Given the description of an element on the screen output the (x, y) to click on. 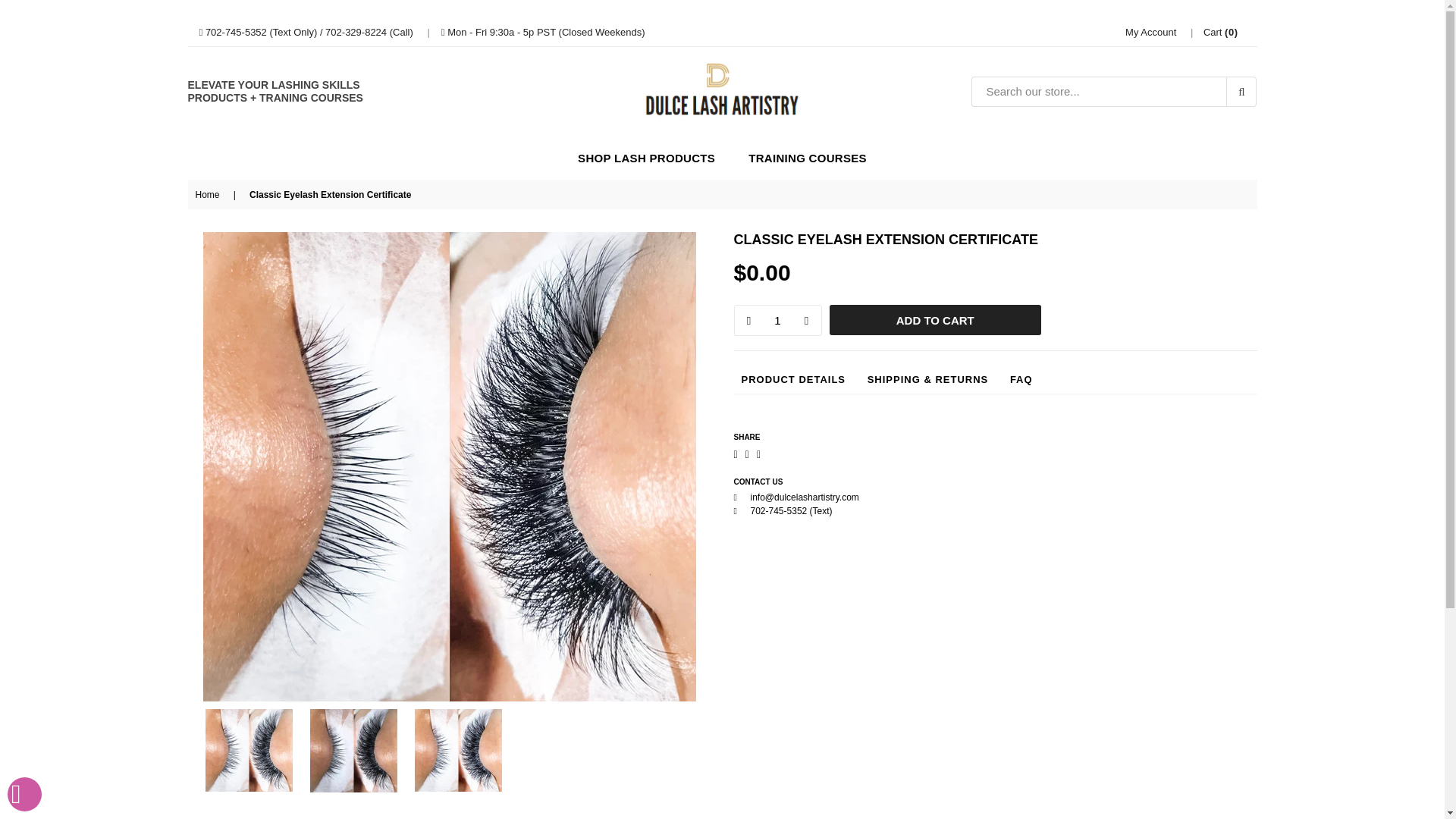
TRAINING COURSES (807, 158)
Quantity (777, 319)
Back to the home page (210, 194)
Tweet on Twitter (747, 454)
1 (777, 320)
SUBMIT (1240, 91)
Share on Facebook (735, 454)
Pin on Pinterest (759, 454)
Cart (1220, 30)
SHOP LASH PRODUCTS (646, 158)
